Given the description of an element on the screen output the (x, y) to click on. 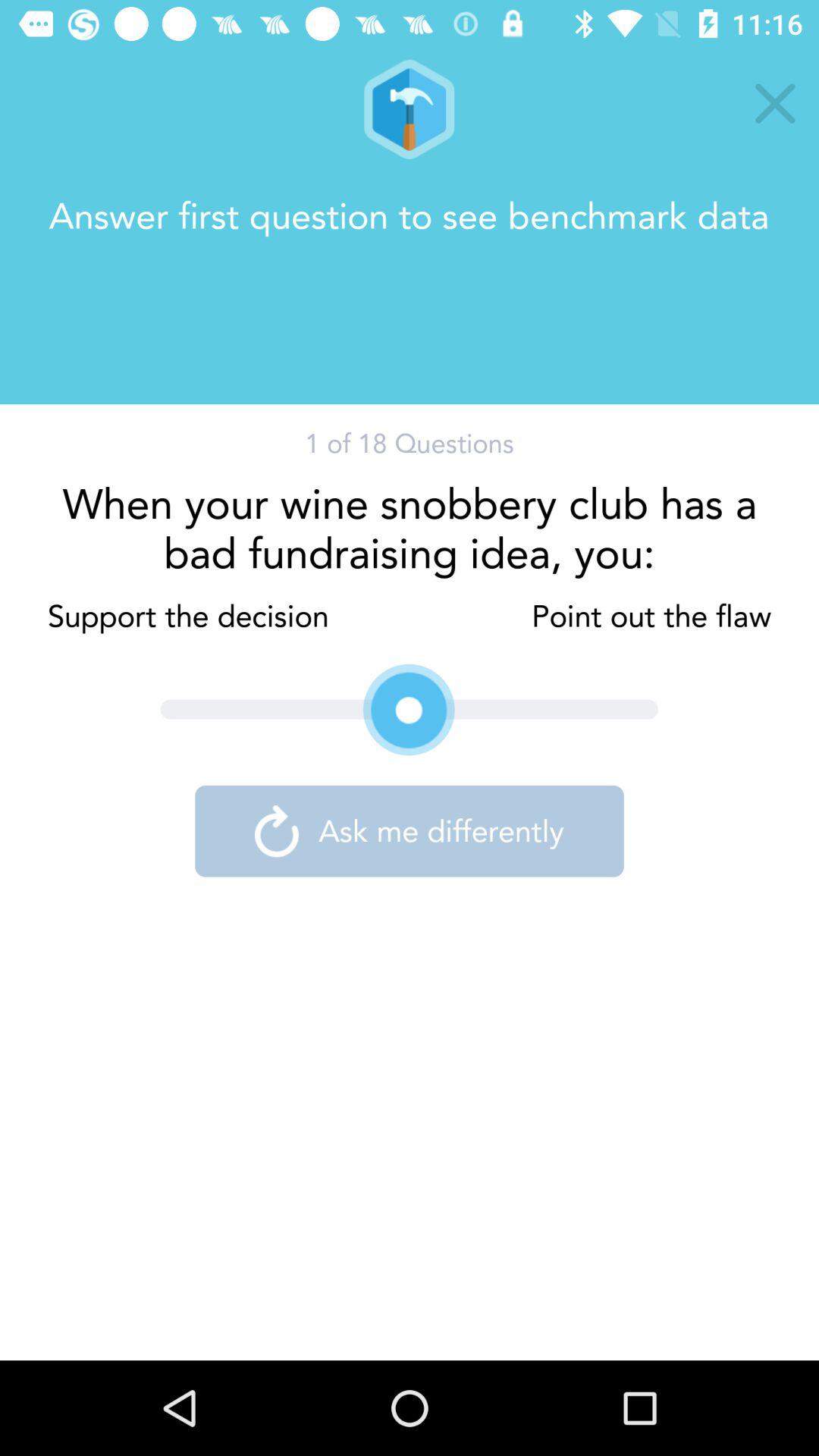
select the slider from the web page (409, 709)
click on close (775, 102)
click on the refresh button (276, 831)
click on hammer icon (408, 108)
